Given the description of an element on the screen output the (x, y) to click on. 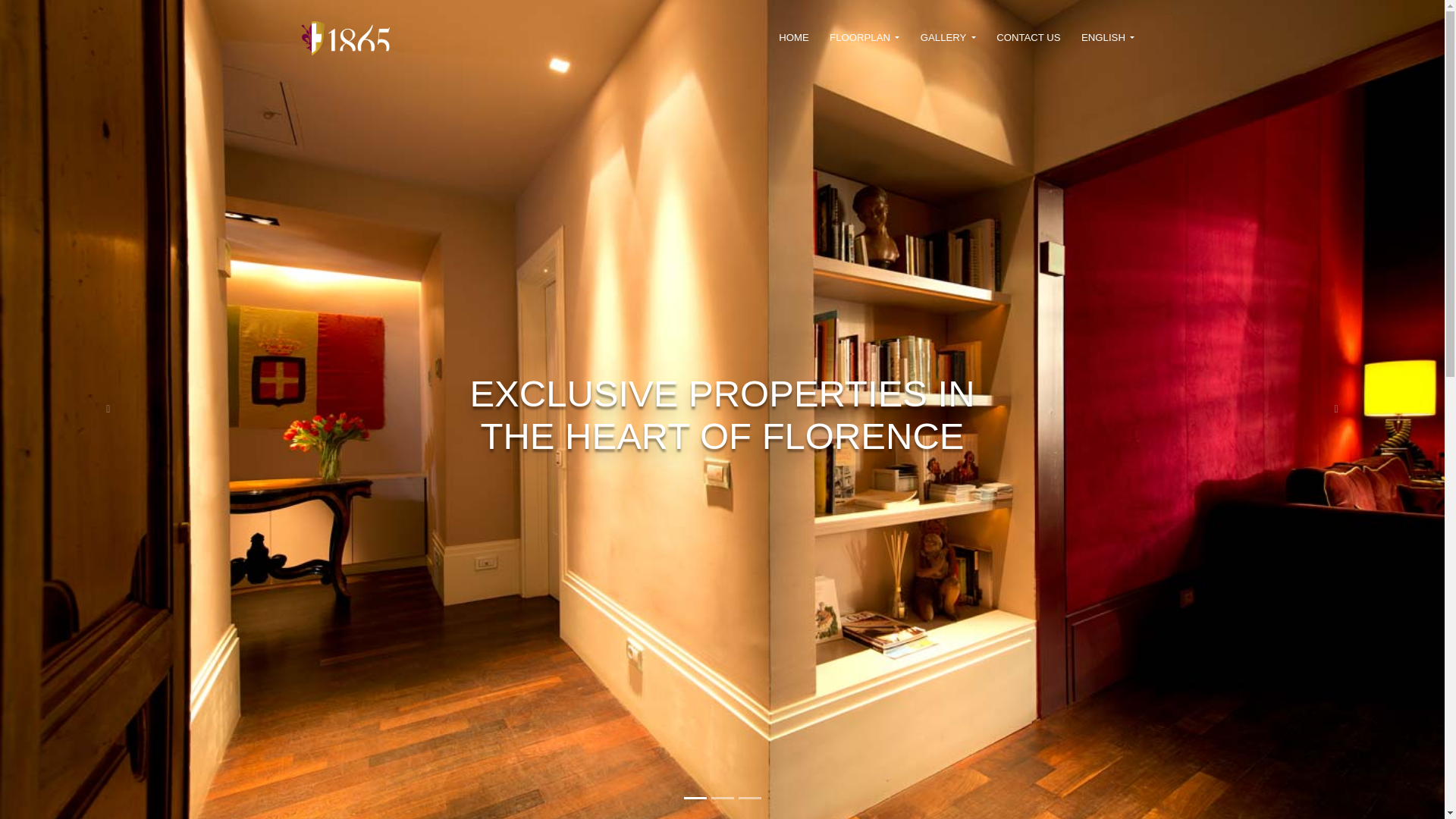
ENGLISH (1107, 38)
GALLERY (948, 38)
FLOORPLAN (864, 38)
CONTACT US (1028, 38)
HOME (793, 38)
